Given the description of an element on the screen output the (x, y) to click on. 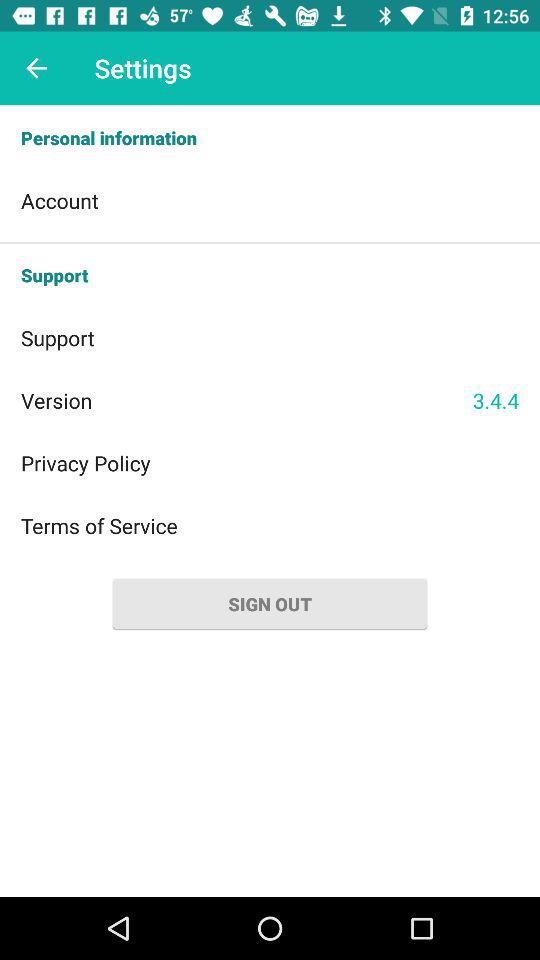
turn off the icon below privacy policy item (270, 525)
